Given the description of an element on the screen output the (x, y) to click on. 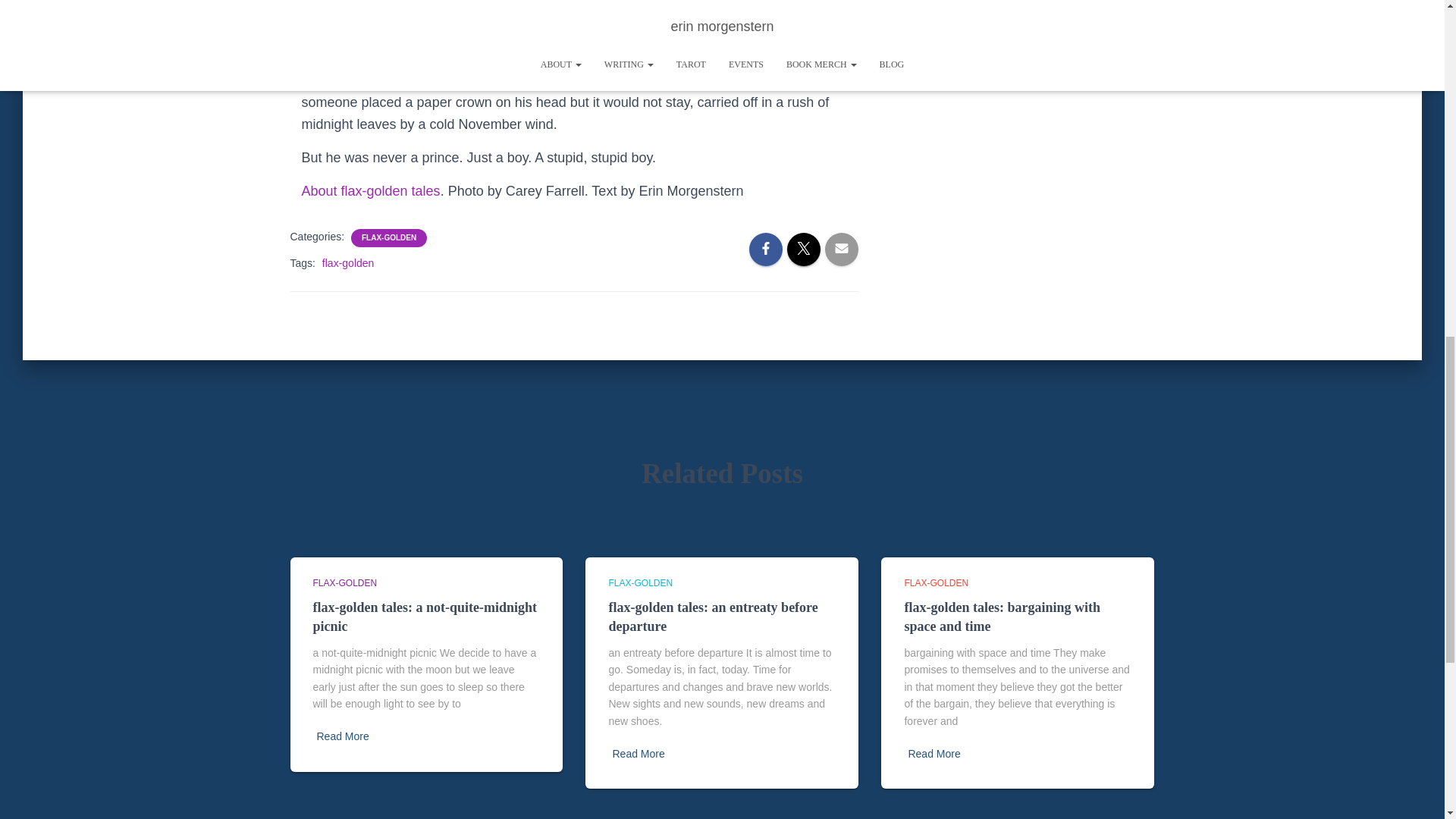
flax-golden tales: a not-quite-midnight picnic (425, 616)
About flax-golden tales (371, 191)
flax-golden tales: an entreaty before departure (712, 616)
Read More (933, 753)
Read More (637, 753)
FLAX-GOLDEN (345, 583)
flax-golden (347, 263)
FLAX-GOLDEN (388, 237)
flax-golden tales: bargaining with space and time (1002, 616)
Read More (343, 736)
